Given the description of an element on the screen output the (x, y) to click on. 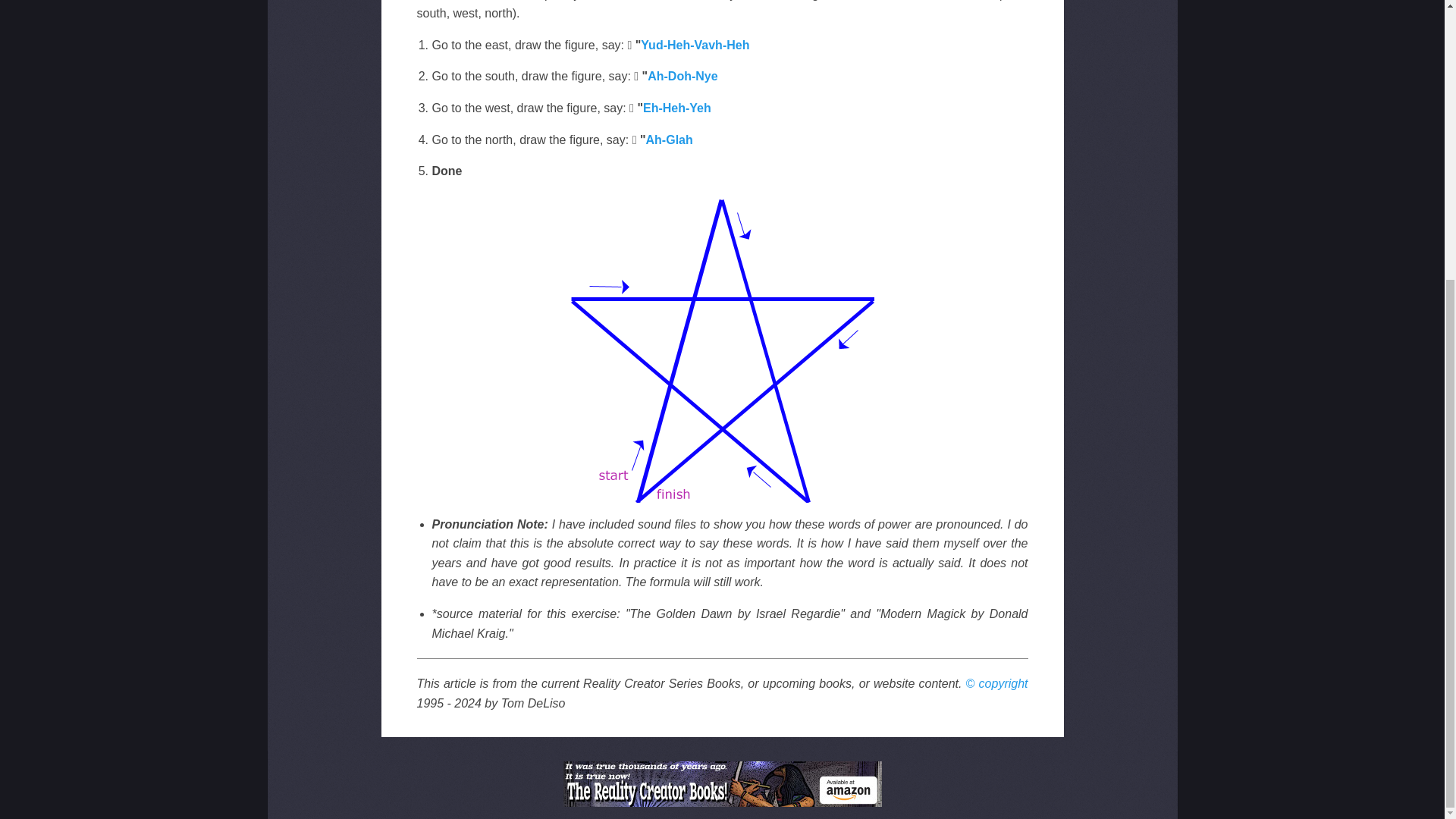
Eh-Heh-Yeh (677, 107)
Ah-Glah (669, 138)
Ah-Doh-Nye (682, 75)
Get Reality Creator Books! (721, 783)
Yud-Heh-Vavh-Heh (694, 44)
